Given the description of an element on the screen output the (x, y) to click on. 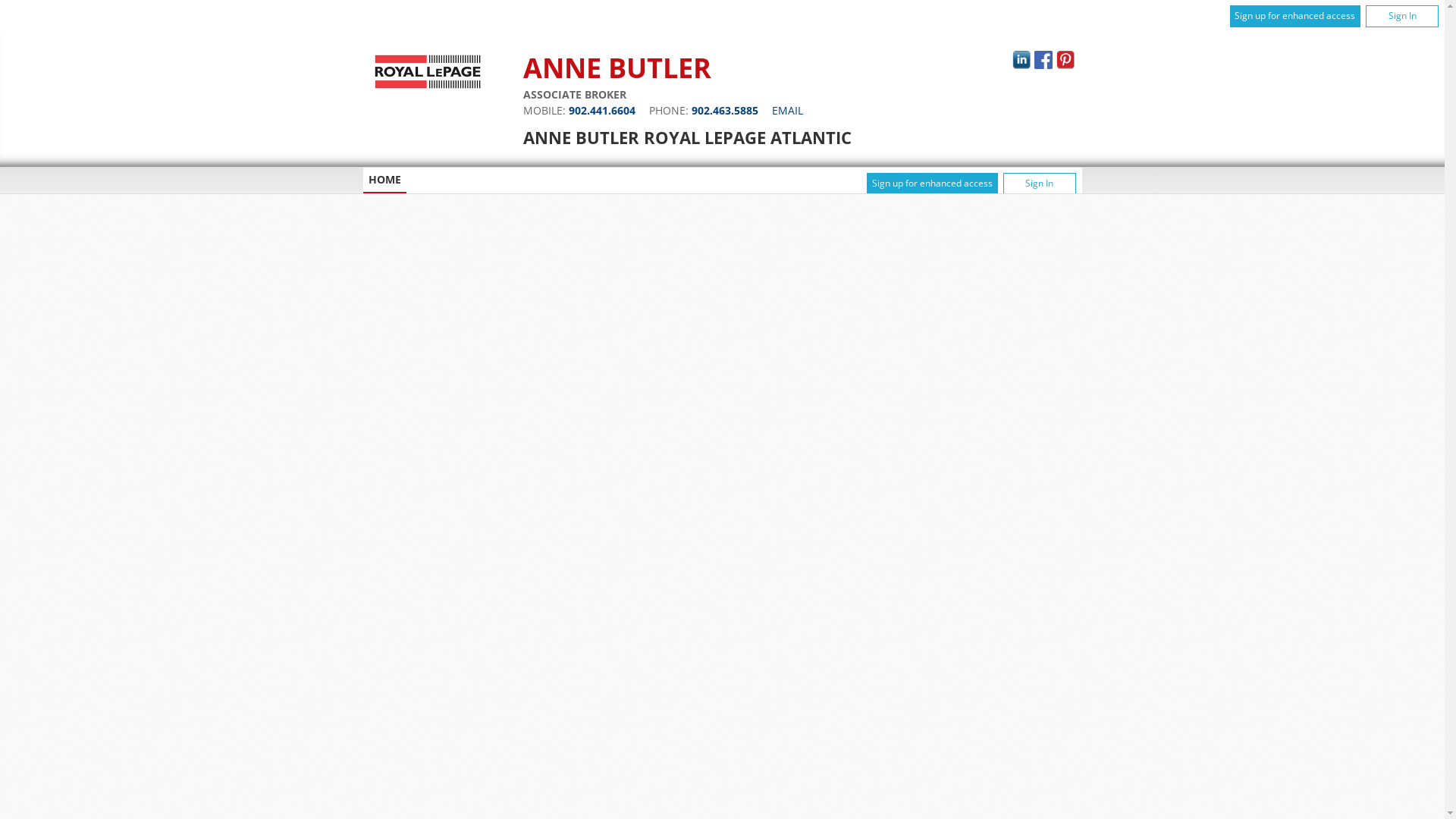
HOME Element type: text (383, 182)
902.441.6604 Element type: text (601, 110)
Home Element type: hover (426, 88)
EMAIL Element type: text (787, 110)
902.463.5885 Element type: text (724, 110)
